Given the description of an element on the screen output the (x, y) to click on. 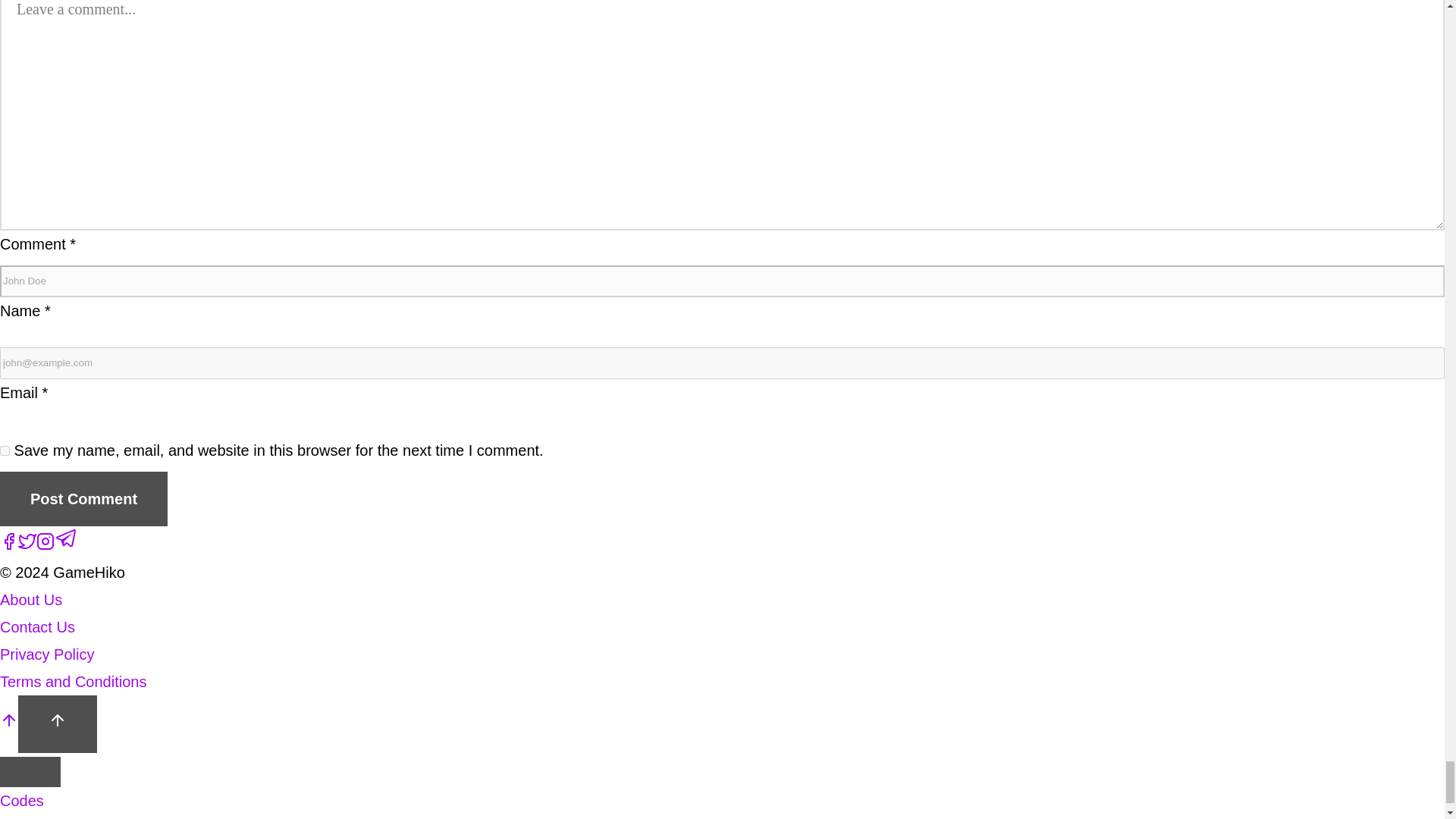
Scroll to top (57, 723)
Scroll to top (8, 723)
Scroll to top (8, 720)
Telegram (66, 538)
Scroll to top (57, 720)
Instagram (45, 541)
Post Comment (83, 498)
Facebook (8, 541)
yes (5, 450)
Twitter (26, 541)
